Given the description of an element on the screen output the (x, y) to click on. 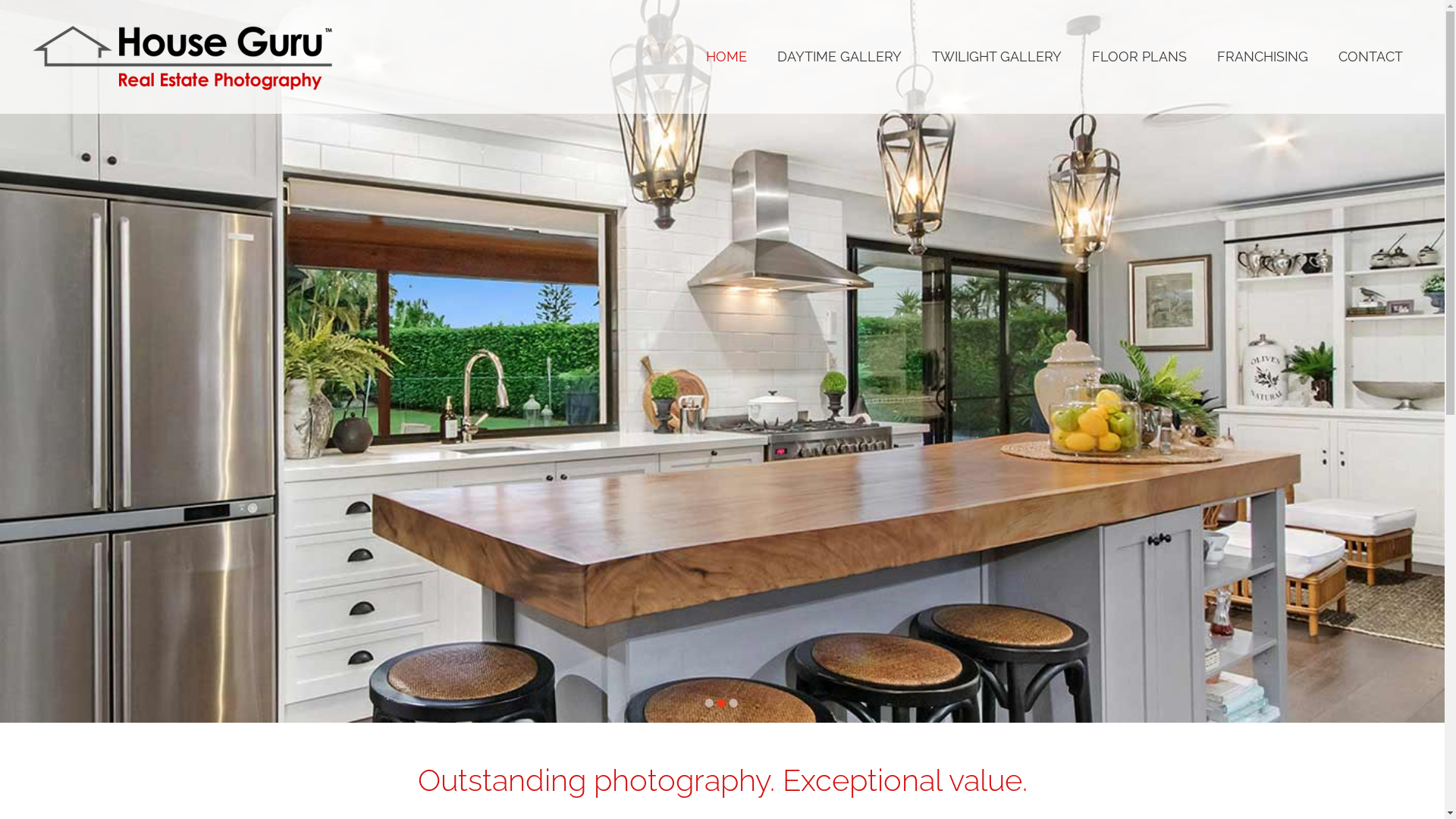
FLOOR PLANS Element type: text (1138, 56)
DAYTIME GALLERY Element type: text (839, 56)
FRANCHISING Element type: text (1262, 56)
TWILIGHT GALLERY Element type: text (996, 56)
HOME Element type: text (726, 56)
CONTACT Element type: text (1370, 56)
